Given the description of an element on the screen output the (x, y) to click on. 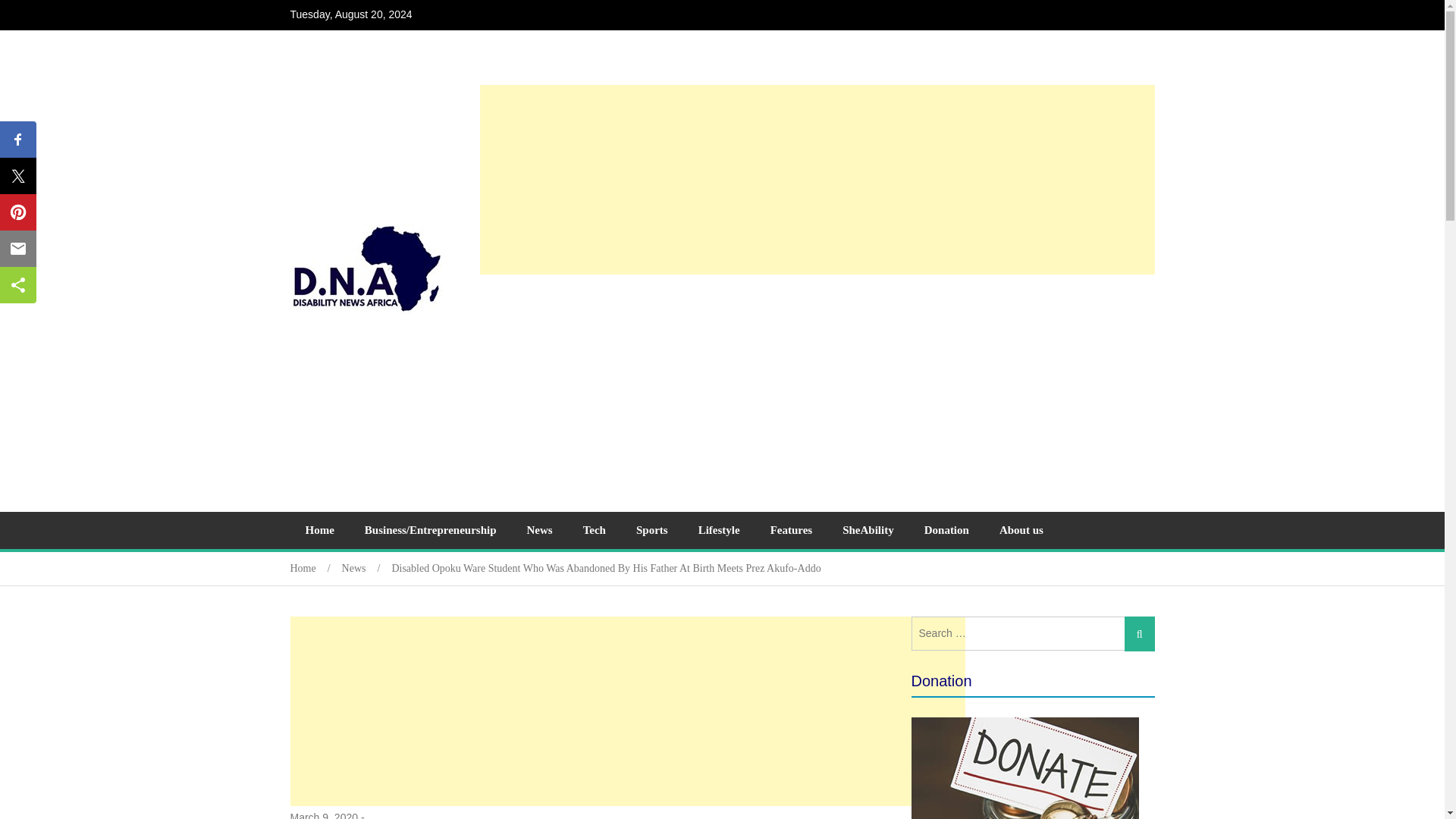
News (366, 568)
Sports (651, 529)
Home (314, 568)
Tech (594, 529)
March 9, 2020 (323, 814)
Advertisement (816, 386)
Features (791, 529)
Lifestyle (718, 529)
SheAbility (867, 529)
Advertisement (626, 710)
